Given the description of an element on the screen output the (x, y) to click on. 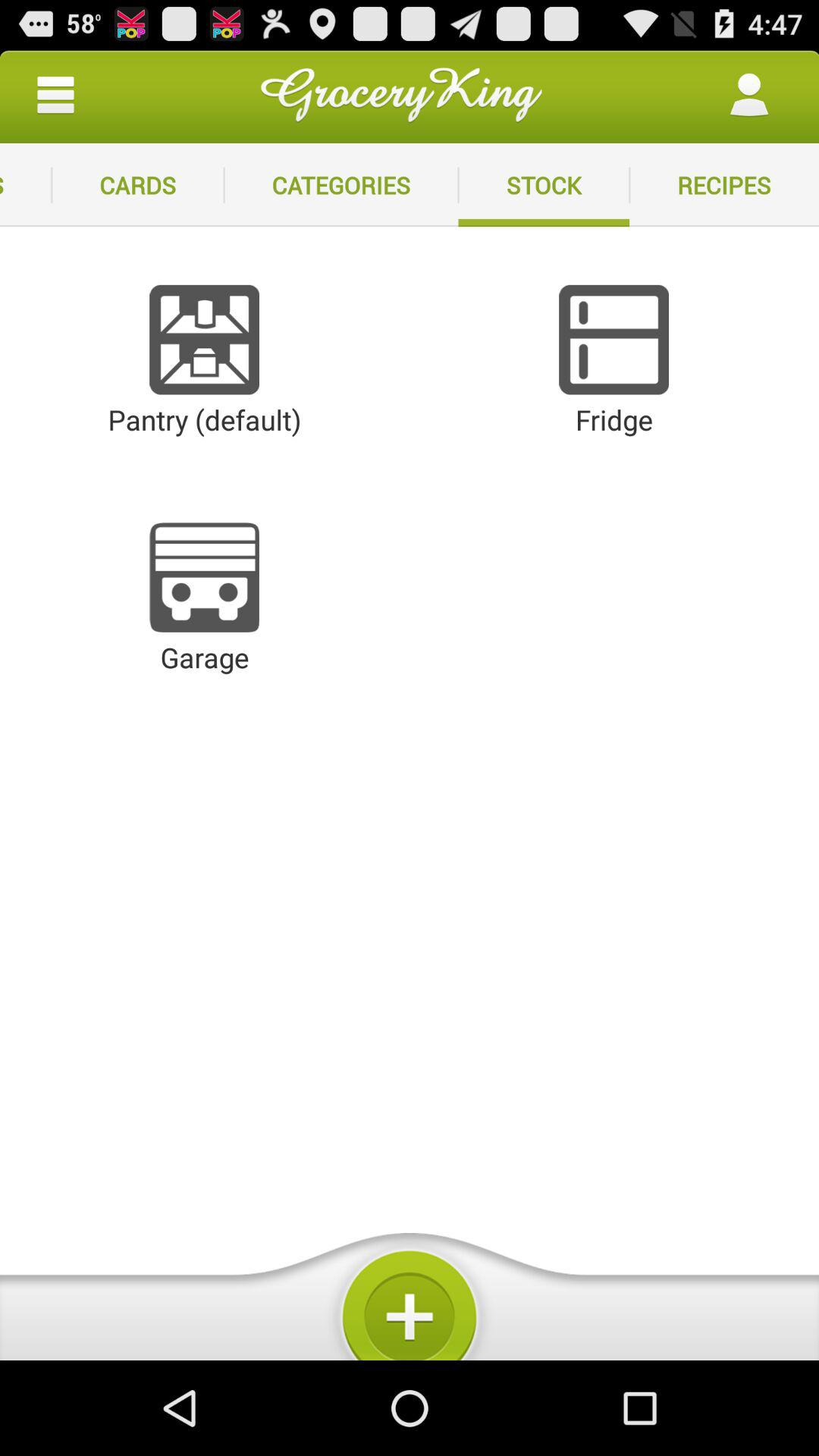
tap icon next to the recipes (543, 184)
